Given the description of an element on the screen output the (x, y) to click on. 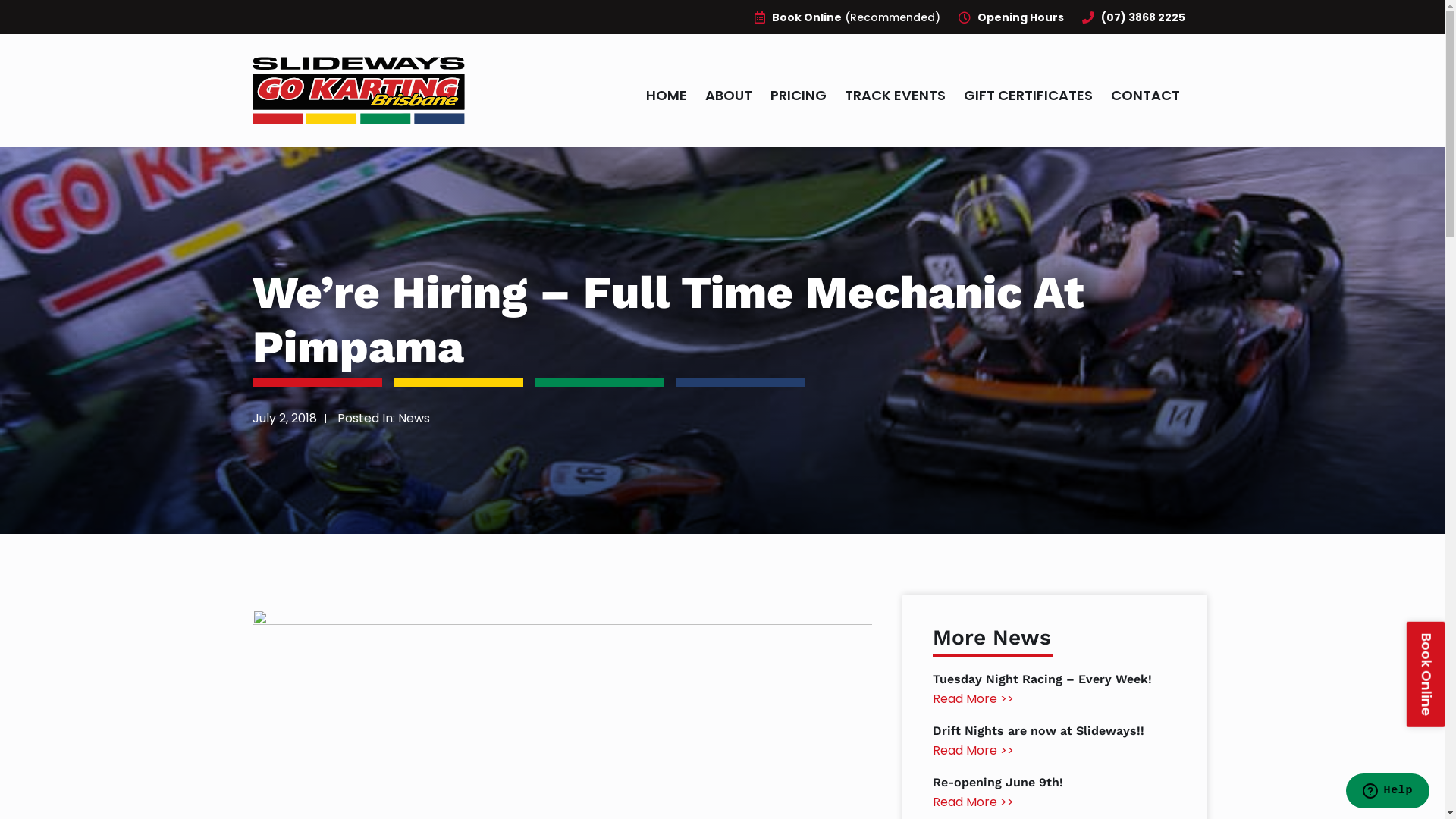
Re-opening June 9th! Element type: text (997, 782)
TRACK EVENTS Element type: text (894, 95)
GIFT CERTIFICATES Element type: text (1027, 95)
Book Online (Recommended) Element type: text (844, 16)
July 2, 2018 Element type: text (283, 418)
Drift Nights are now at Slideways!! Element type: text (1038, 730)
Read More >> Element type: text (972, 802)
Read More >> Element type: text (972, 750)
CONTACT Element type: text (1145, 95)
HOME Element type: text (666, 95)
Opens a widget where you can chat to one of our agents Element type: hover (1387, 792)
Opening Hours Element type: text (1009, 16)
News Element type: text (413, 417)
PRICING Element type: text (798, 95)
ABOUT Element type: text (728, 95)
Read More >> Element type: text (972, 699)
